Given the description of an element on the screen output the (x, y) to click on. 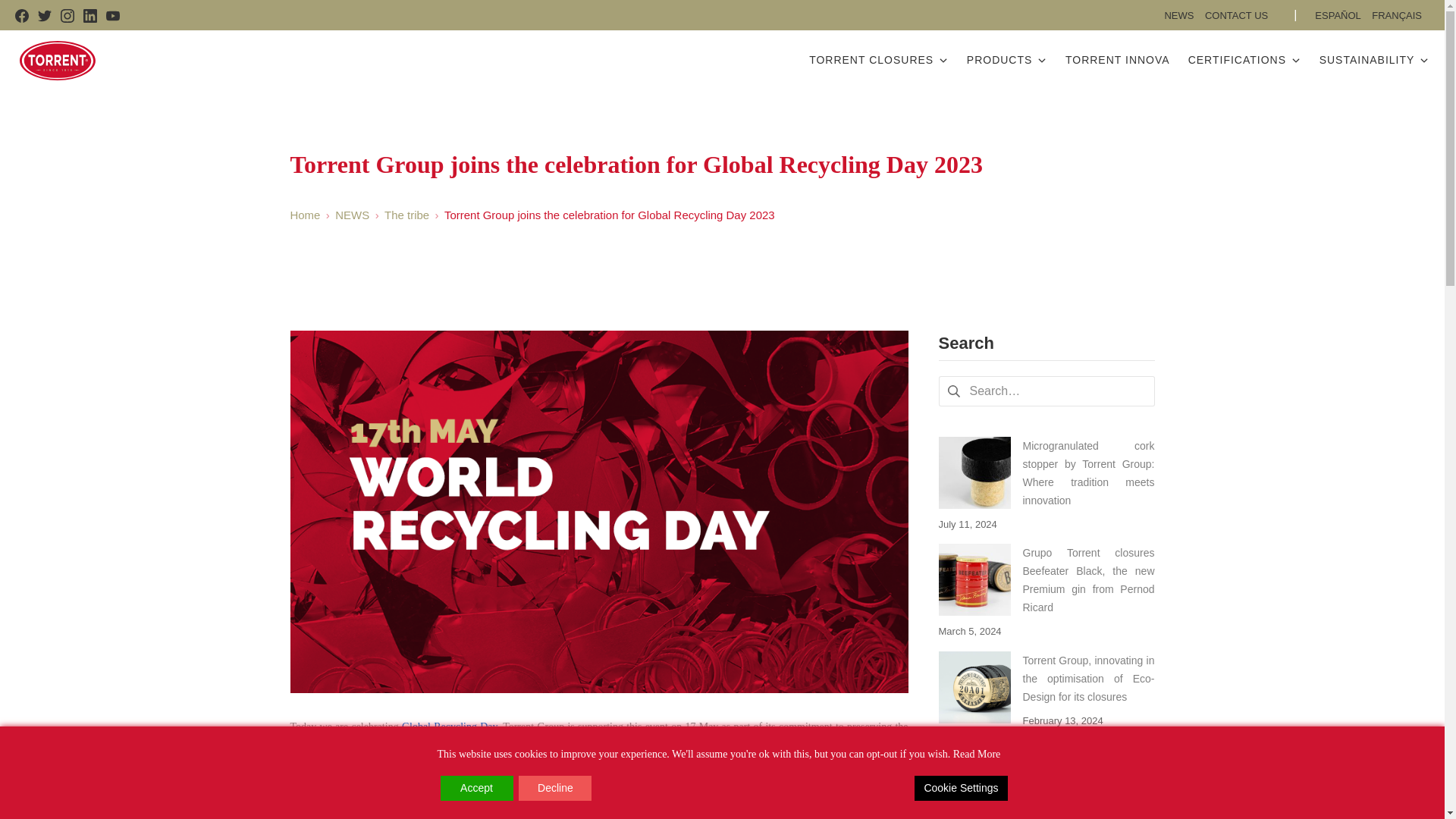
Twitter (43, 15)
Facebook (21, 15)
Instagram (67, 15)
LinkedIn icon (89, 15)
YouTube icon (112, 15)
Twitter icon (43, 15)
Youtube (112, 15)
Instagram icon (67, 15)
LinkedIn (89, 15)
